Given the description of an element on the screen output the (x, y) to click on. 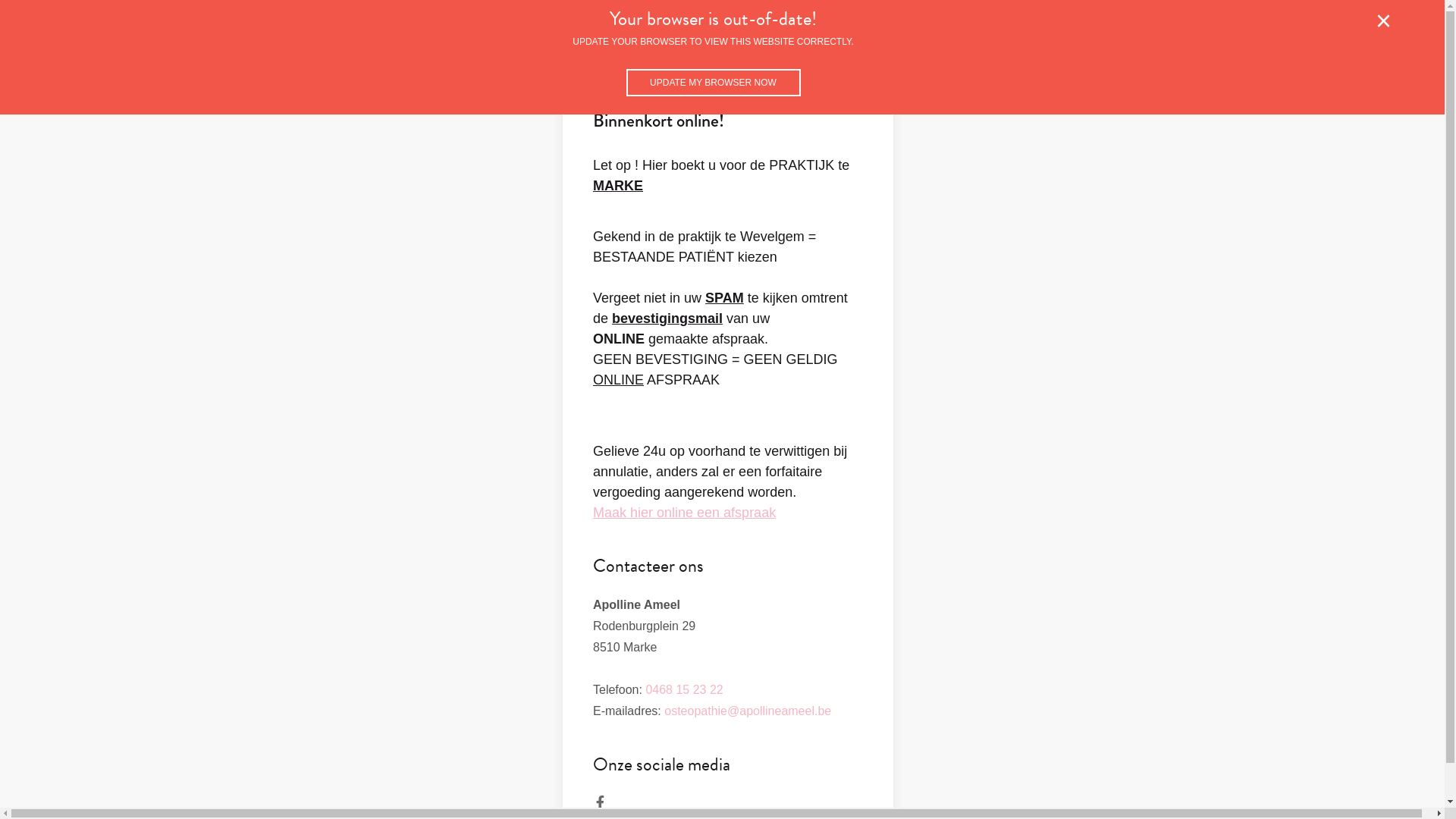
Maak hier online een afspraak Element type: text (684, 512)
osteopathie@apollineameel.be Element type: text (747, 710)
Facebook Element type: hover (600, 802)
UPDATE MY BROWSER NOW Element type: text (713, 82)
0468 15 23 22 Element type: text (683, 689)
